Given the description of an element on the screen output the (x, y) to click on. 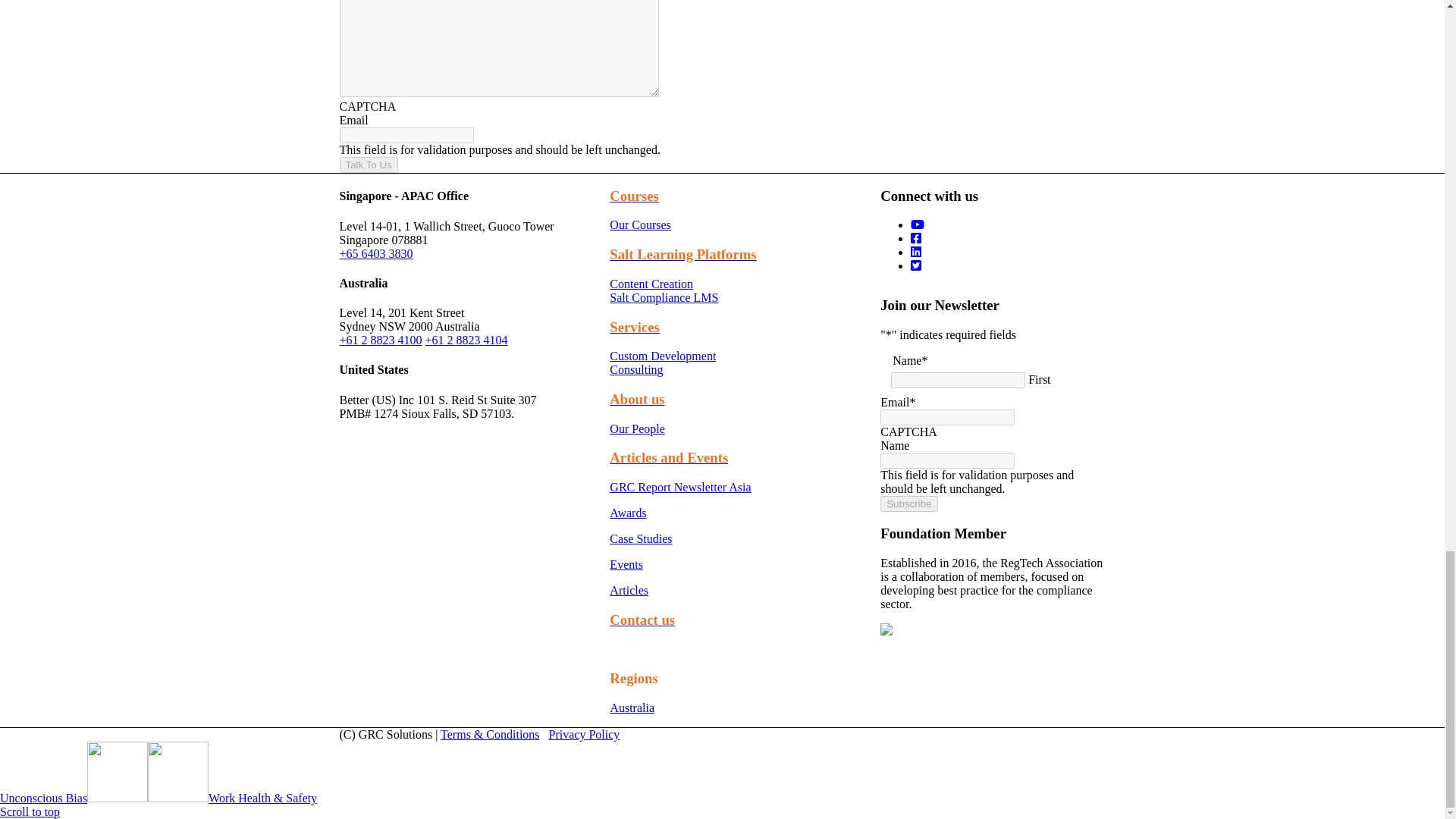
Talk To Us (368, 164)
Scroll to top (29, 811)
Subscribe (908, 503)
